Given the description of an element on the screen output the (x, y) to click on. 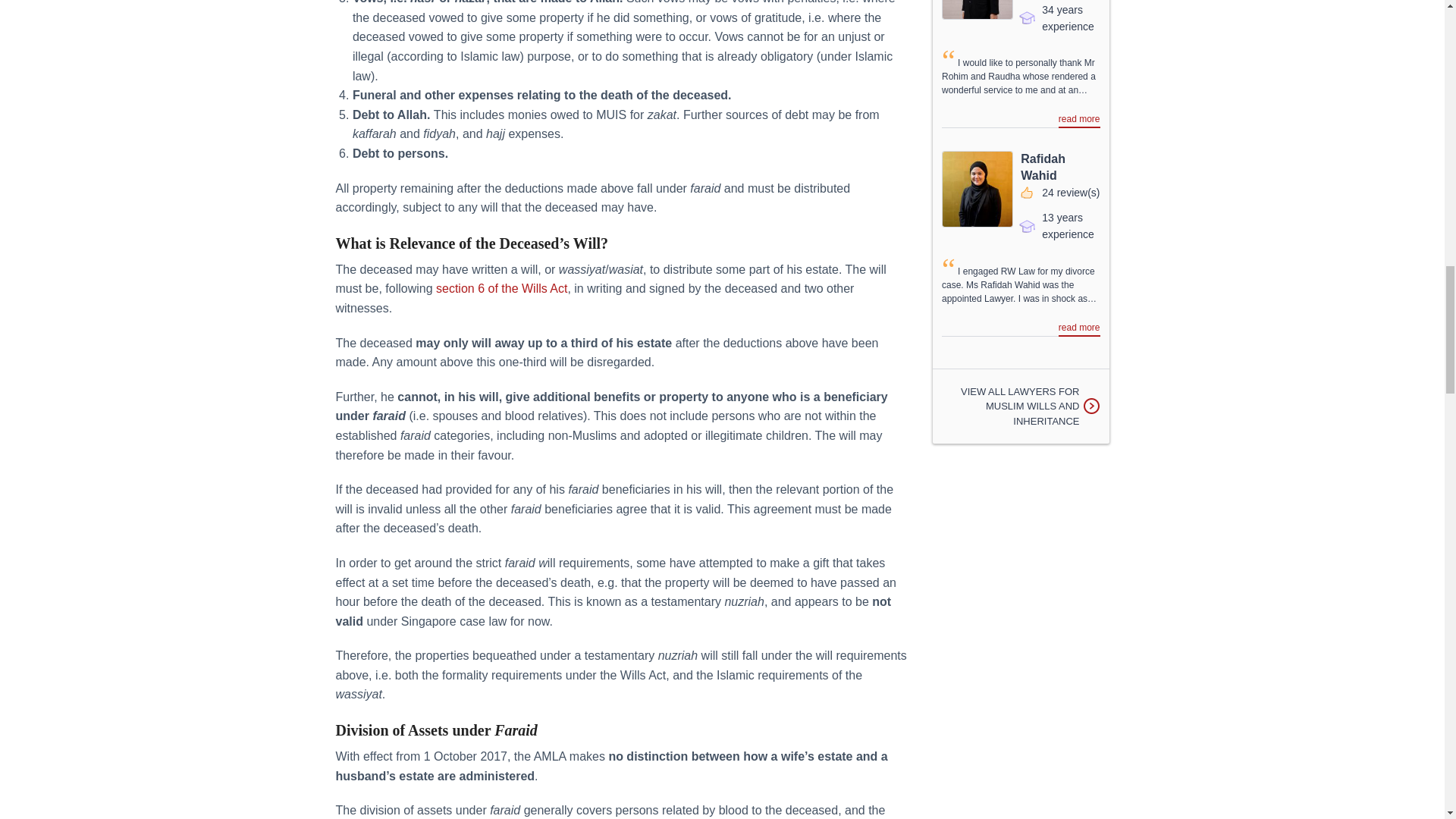
section 6 of the Wills Act (501, 287)
